Given the description of an element on the screen output the (x, y) to click on. 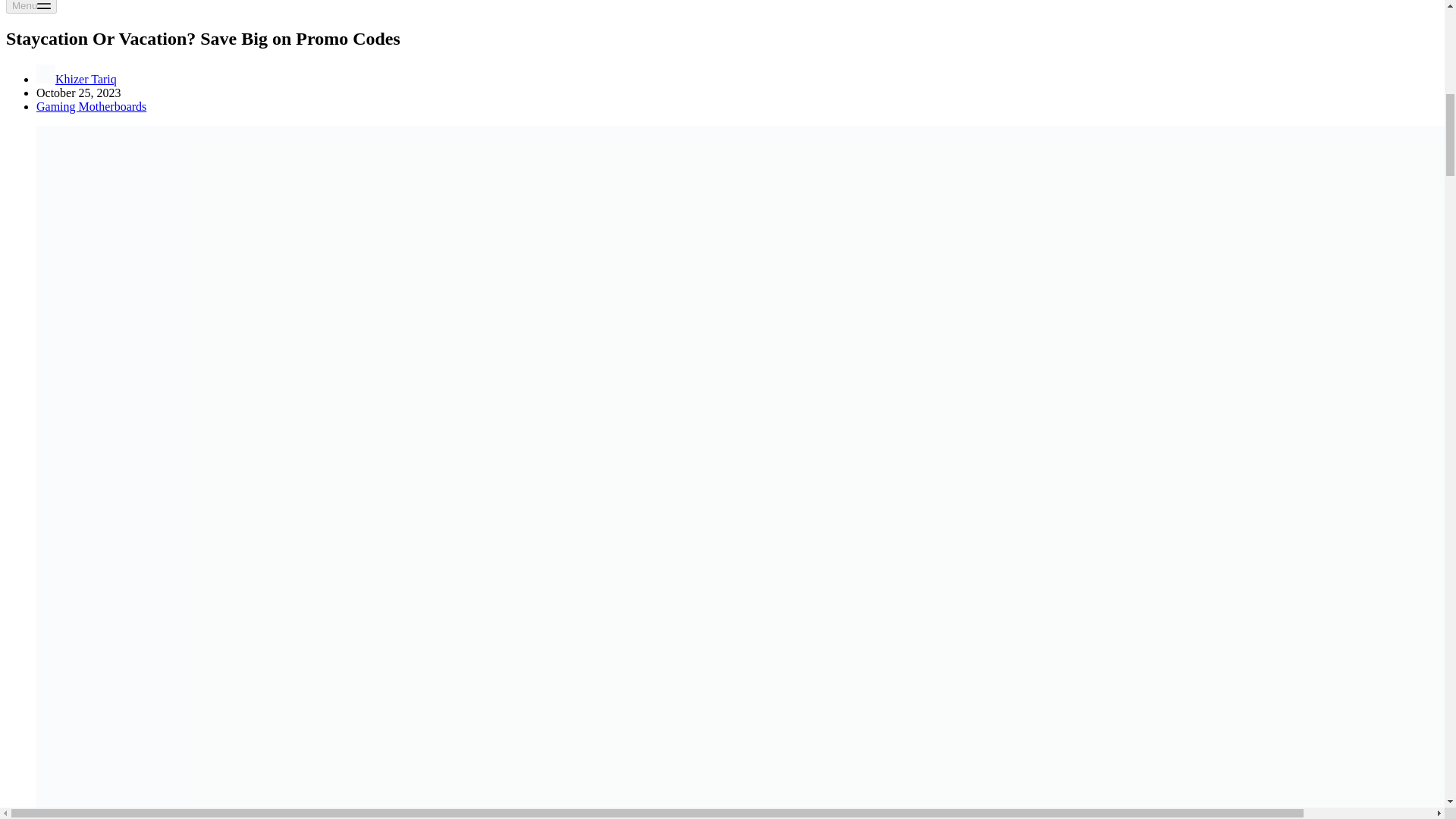
Staycation Or Vacation? Save Big on Promo Codes (721, 38)
Posts by Khizer Tariq (85, 78)
